Given the description of an element on the screen output the (x, y) to click on. 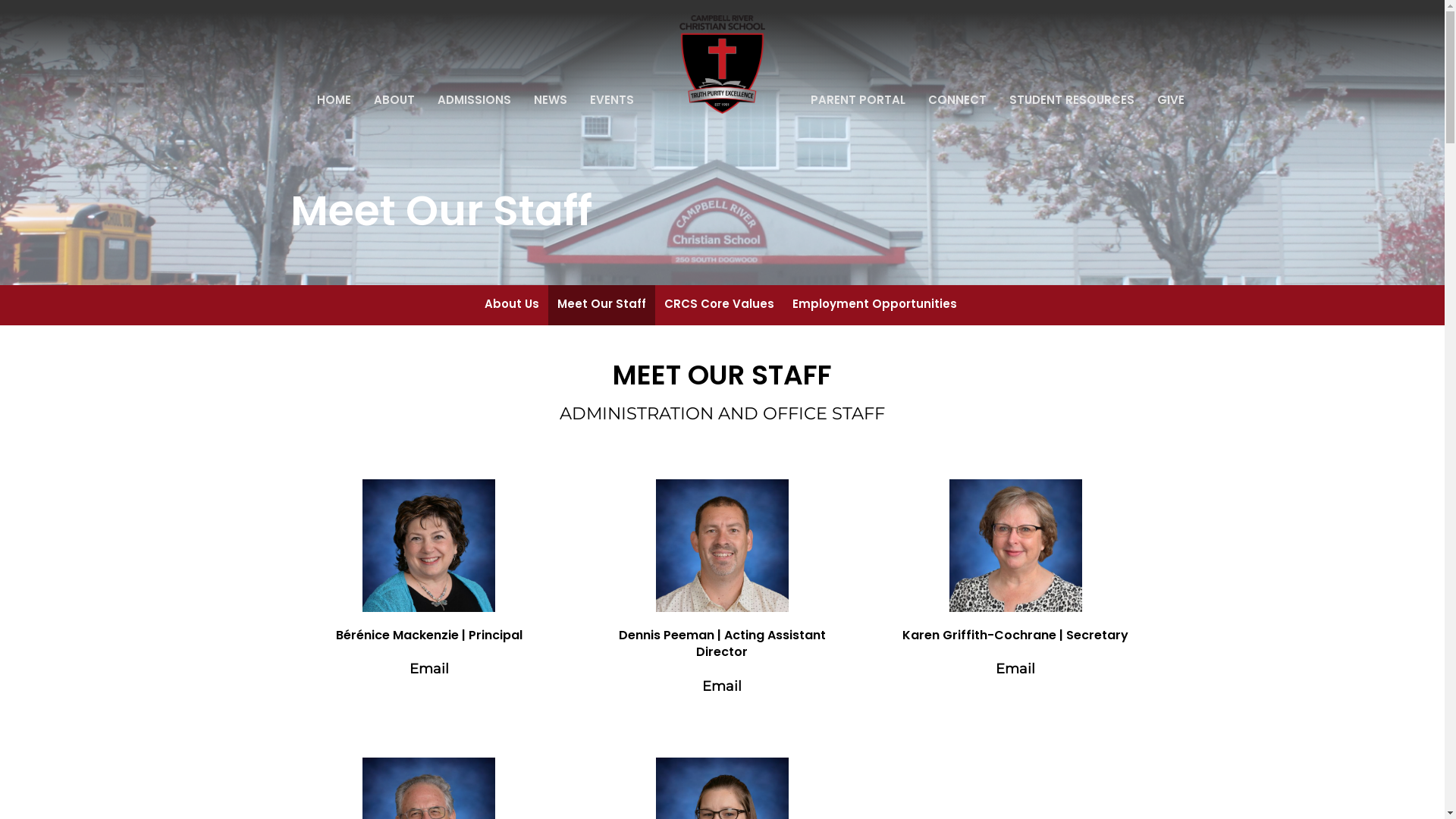
Employment Opportunities Element type: text (874, 305)
NEWS Element type: text (550, 99)
Meet Our Staff Element type: text (601, 305)
CONNECT Element type: text (957, 99)
STUDENT RESOURCES Element type: text (1071, 99)
HOME Element type: text (333, 99)
PARENT PORTAL Element type: text (857, 99)
Email Element type: text (721, 685)
ABOUT Element type: text (393, 99)
GIVE Element type: text (1170, 99)
CRCS Core Values Element type: text (719, 305)
ADMISSIONS Element type: text (474, 99)
Email Element type: text (1015, 668)
EVENTS Element type: text (611, 99)
About Us Element type: text (511, 305)
Email Element type: text (428, 668)
